Given the description of an element on the screen output the (x, y) to click on. 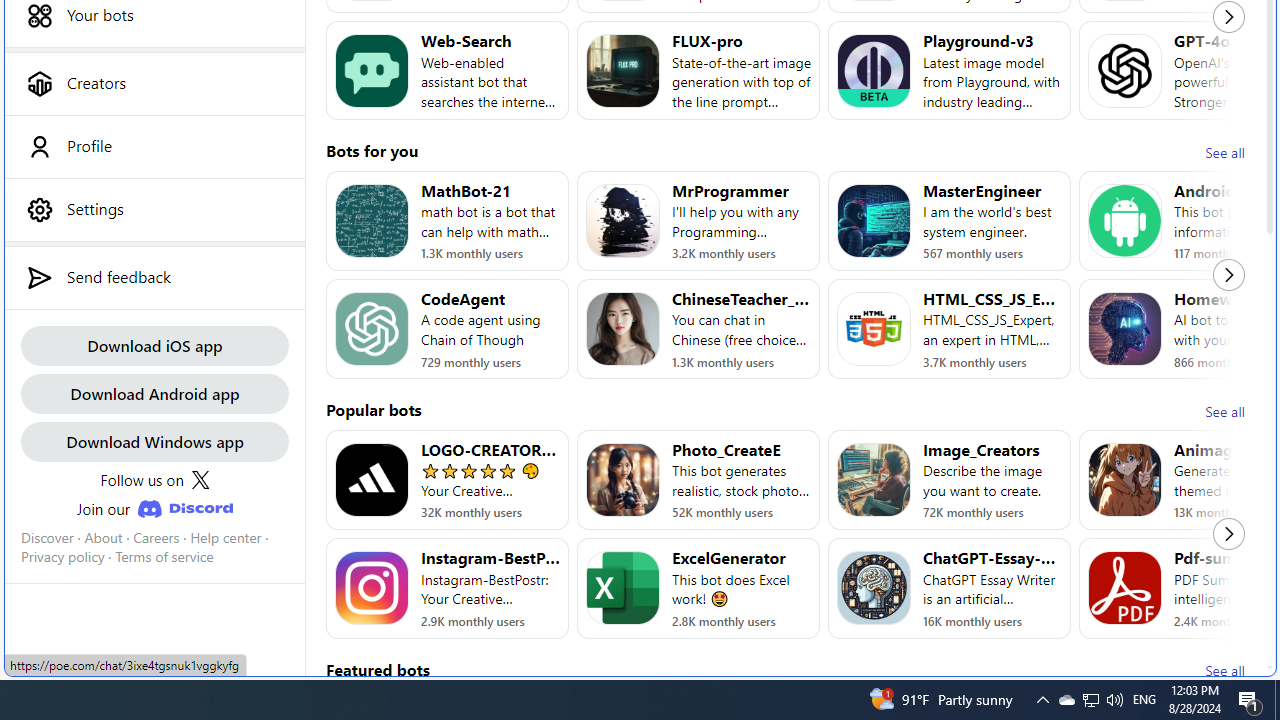
Bot image for FLUX-pro (623, 70)
Download iOS app (154, 344)
Bot image for ChineseTeacher_Lily (623, 329)
Bot image for Playground-v3 (874, 70)
Bot image for Homeworkbot679 (1124, 329)
Download Android app (154, 392)
Bot image for HTML_CSS_JS_Expert (874, 329)
Bot image for ExcelGenerator (623, 588)
